Given the description of an element on the screen output the (x, y) to click on. 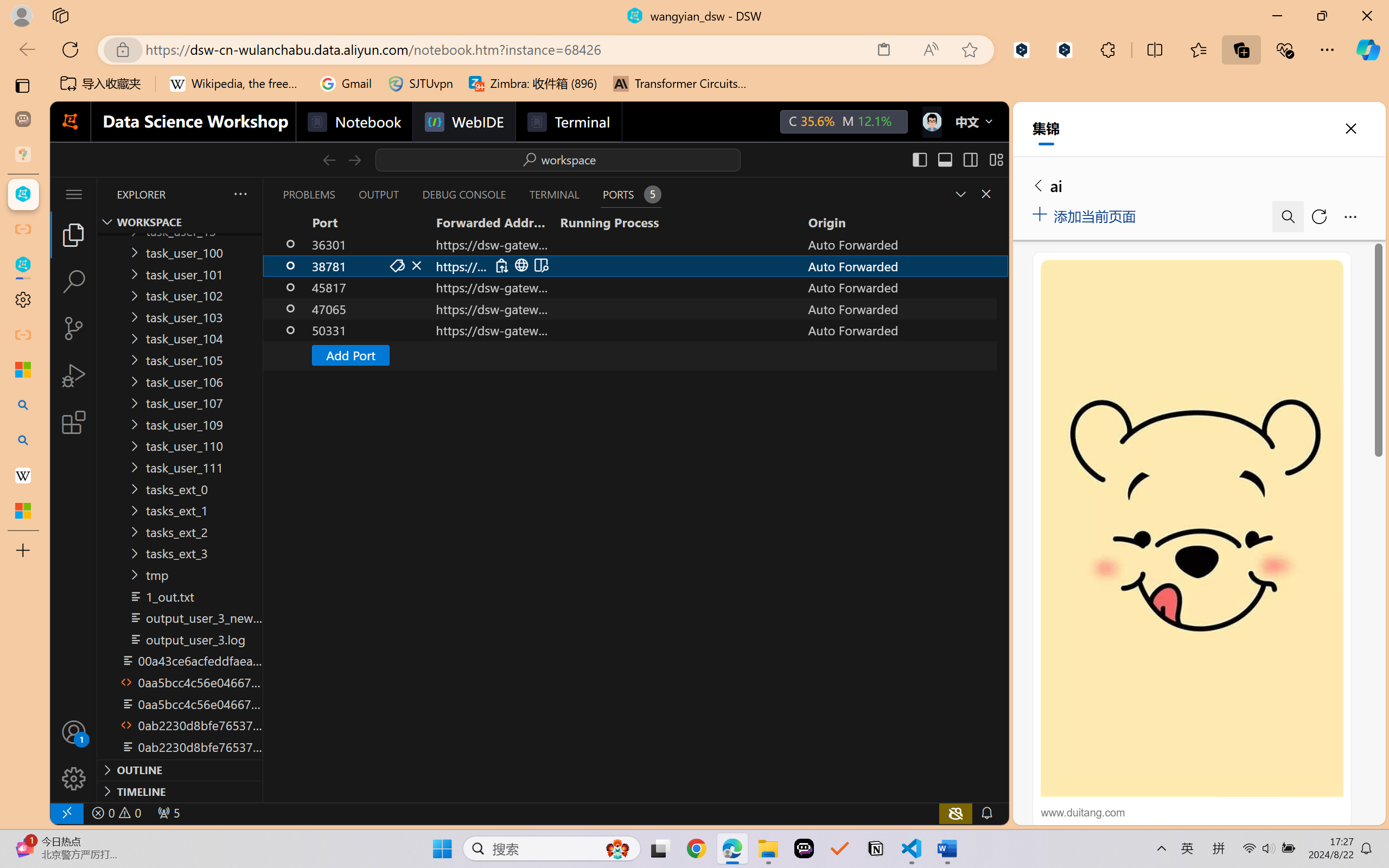
Explorer actions (211, 194)
Toggle Panel (Ctrl+J) (944, 159)
Terminal (Ctrl+`) (553, 194)
SJTUvpn (419, 83)
Source Control (Ctrl+Shift+G) (73, 328)
Open in Browser (520, 265)
Accounts - Sign in requested (73, 732)
Output (Ctrl+Shift+U) (377, 194)
icon (930, 119)
